Given the description of an element on the screen output the (x, y) to click on. 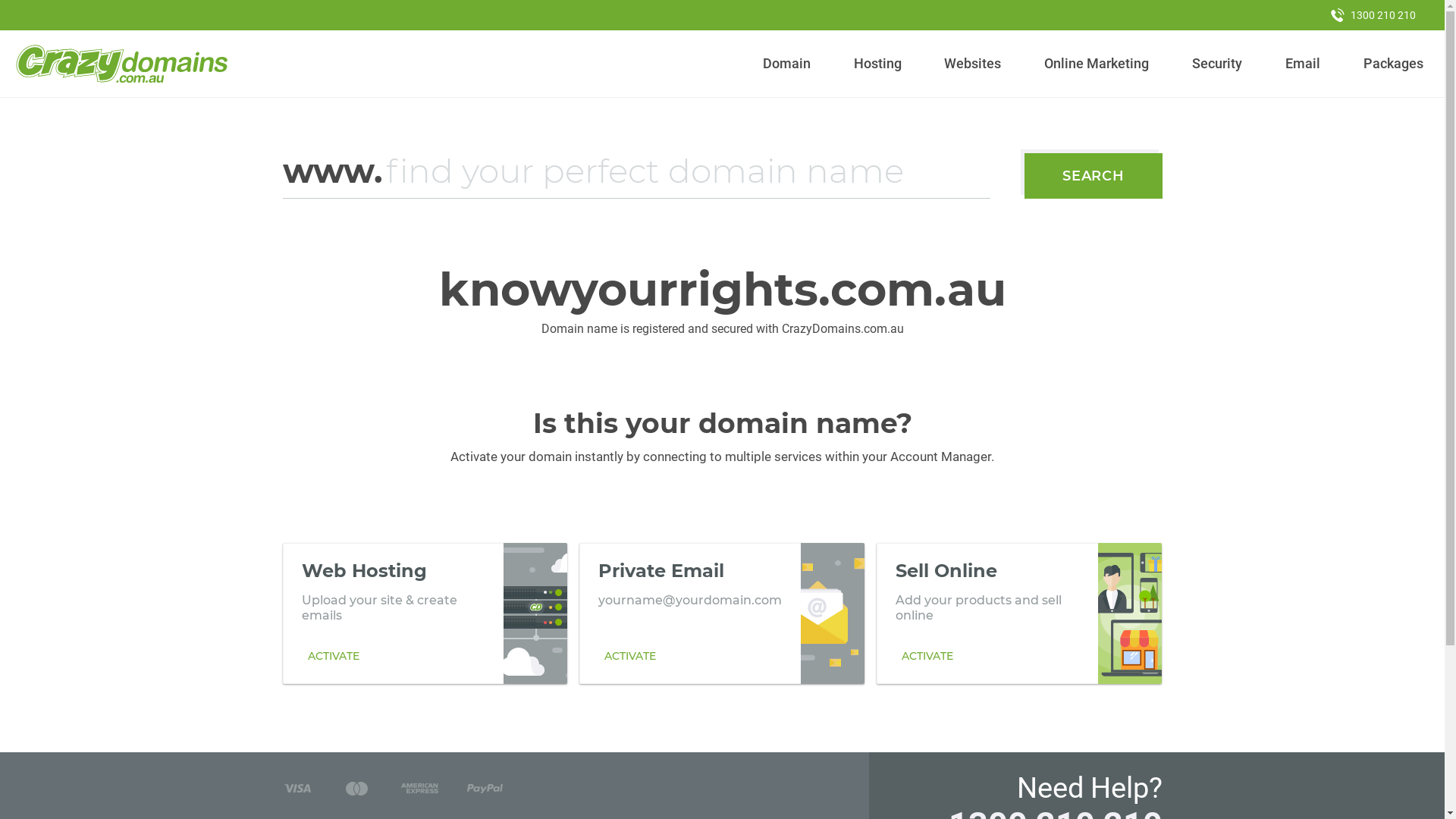
SEARCH Element type: text (1092, 175)
Packages Element type: text (1392, 63)
Email Element type: text (1302, 63)
Websites Element type: text (972, 63)
Sell Online
Add your products and sell online
ACTIVATE Element type: text (1018, 613)
Hosting Element type: text (877, 63)
Online Marketing Element type: text (1096, 63)
Web Hosting
Upload your site & create emails
ACTIVATE Element type: text (424, 613)
Domain Element type: text (786, 63)
Private Email
yourname@yourdomain.com
ACTIVATE Element type: text (721, 613)
Security Element type: text (1217, 63)
1300 210 210 Element type: text (1373, 15)
